Given the description of an element on the screen output the (x, y) to click on. 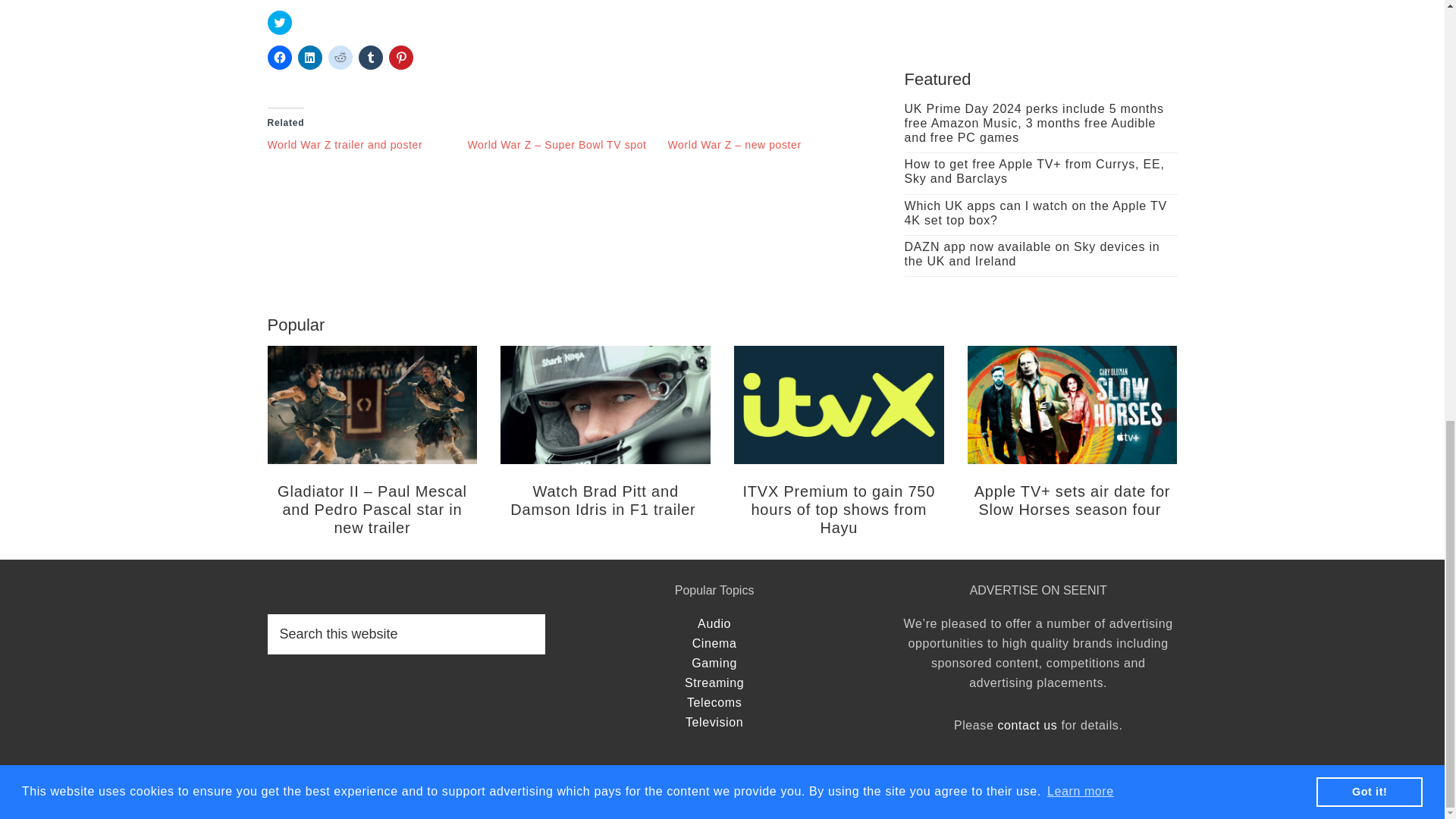
Click to share on Pinterest (400, 57)
Cinema (714, 643)
Click to share on Twitter (278, 22)
Click to share on LinkedIn (309, 57)
ITVX Premium to gain 750 hours of top shows from Hayu (838, 509)
DAZN app now available on Sky devices in the UK and Ireland (1031, 253)
Click to share on Reddit (339, 57)
World War Z trailer and poster (344, 144)
Audio (713, 623)
Which UK apps can I watch on the Apple TV 4K set top box?  (1035, 212)
Gaming (713, 662)
Click to share on Tumblr (369, 57)
